Given the description of an element on the screen output the (x, y) to click on. 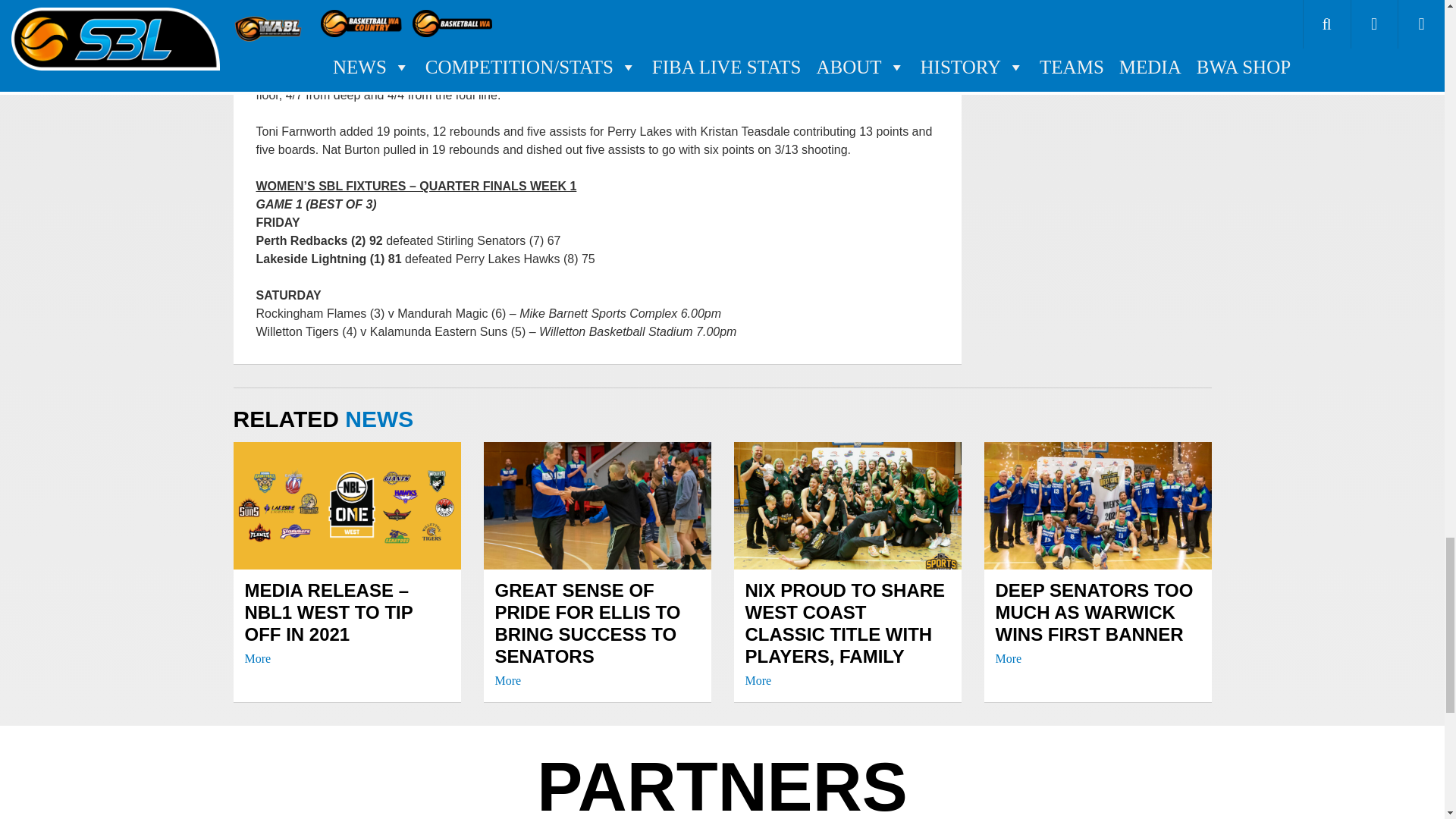
Great sense of pride for Ellis to bring success to Senators (596, 633)
more (257, 658)
